Given the description of an element on the screen output the (x, y) to click on. 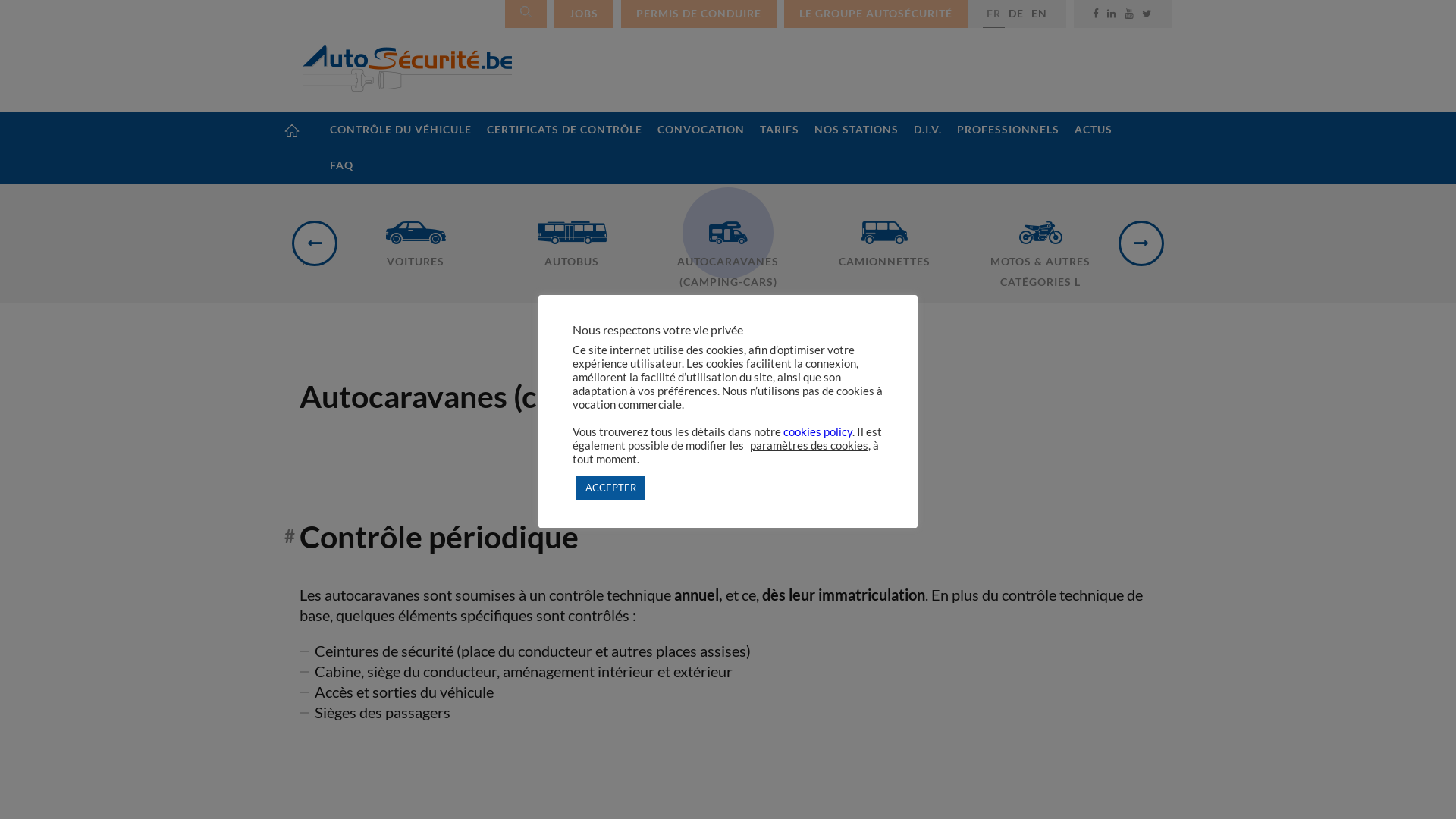
PROFESSIONNELS Element type: text (1007, 129)
# Element type: text (289, 536)
CONVOCATION Element type: text (700, 129)
PERMIS DE CONDUIRE Element type: text (698, 14)
FAQ Element type: text (341, 165)
REMORQUES Element type: text (1196, 227)
EN Element type: text (1039, 14)
NOS STATIONS Element type: text (856, 129)
Next Element type: text (1141, 243)
FR Element type: text (993, 14)
AUTOBUS Element type: text (571, 227)
DE Element type: text (1015, 14)
Previous Element type: text (314, 243)
AUTOCARAVANES (CAMPING-CARS) Element type: text (727, 237)
D.I.V. Element type: text (927, 129)
TARIFS Element type: text (779, 129)
VOITURES Element type: text (415, 227)
JOBS Element type: text (583, 14)
ACCEPTER Element type: text (610, 487)
ACTUS Element type: text (1093, 129)
cookies policy Element type: text (817, 430)
CAMIONNETTES Element type: text (884, 227)
